Given the description of an element on the screen output the (x, y) to click on. 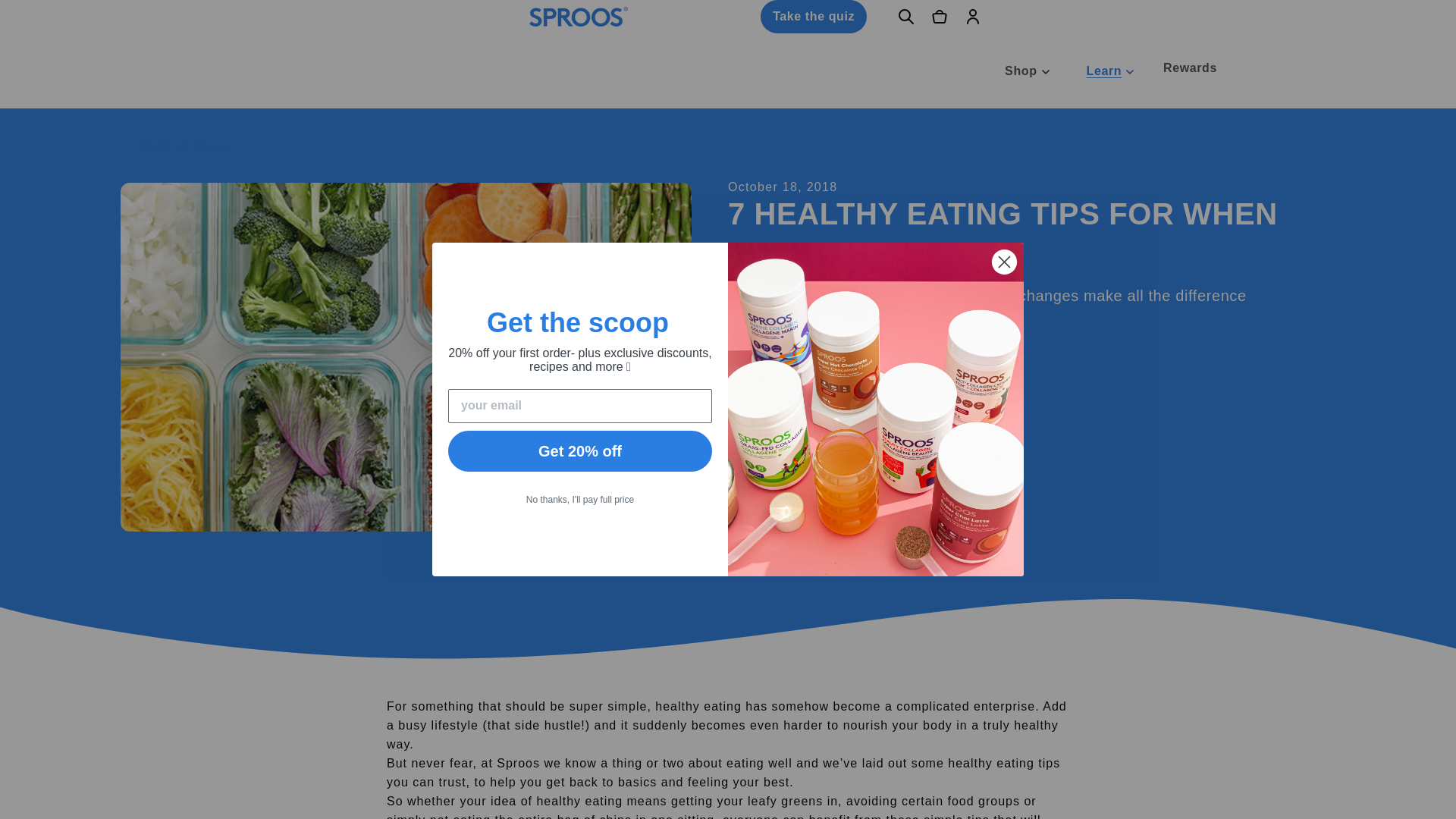
Skip to content (46, 18)
Close dialog 1 (1004, 261)
